Given the description of an element on the screen output the (x, y) to click on. 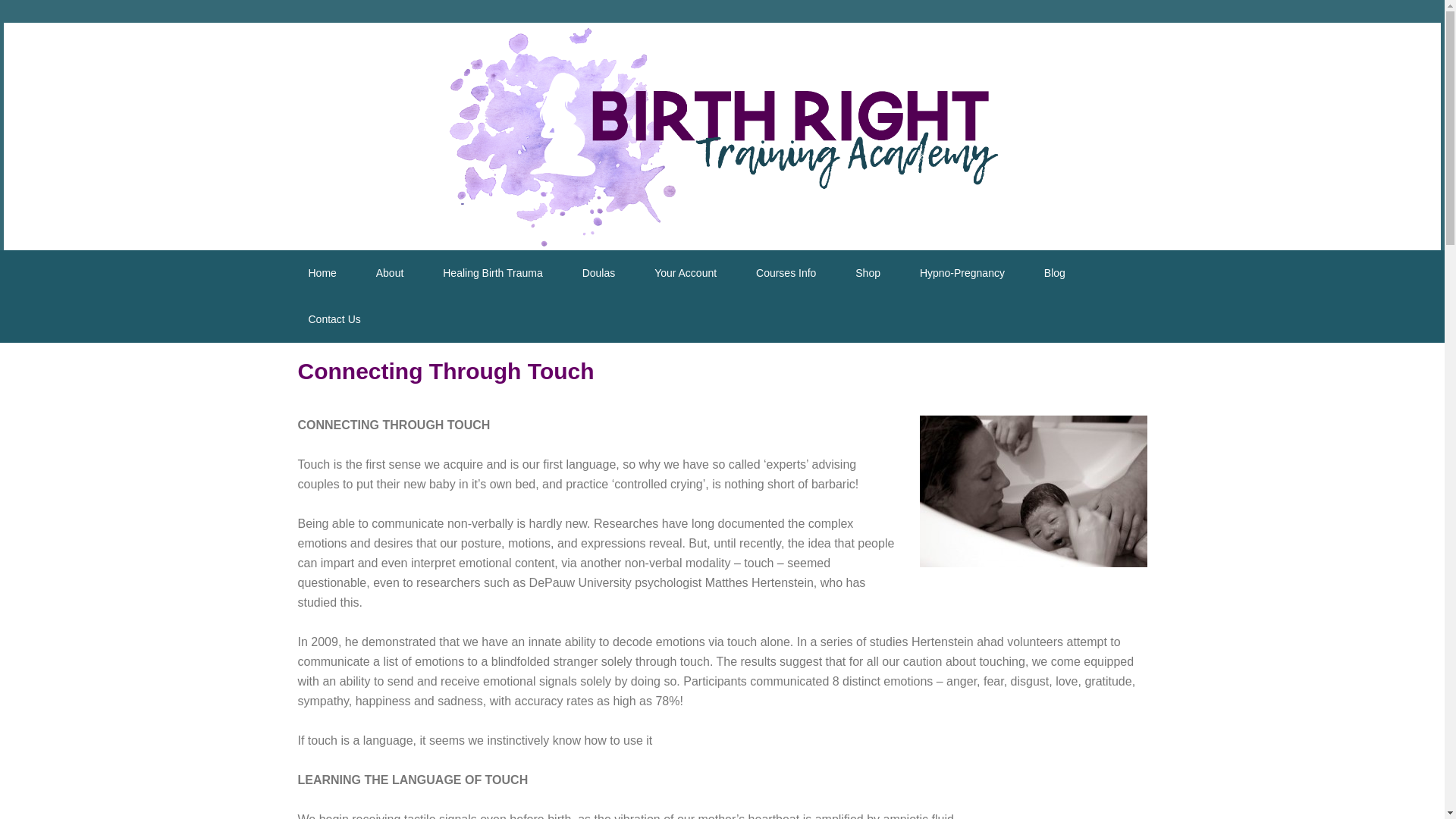
Healing Birth Trauma (492, 273)
Courses Info (786, 273)
Shop (867, 273)
Your Account (685, 273)
Doulas (598, 273)
About (390, 273)
Your Account (685, 273)
Contact Us (333, 319)
Home (321, 273)
Hypno-Pregnancy (962, 273)
Home (321, 273)
About (390, 273)
Courses Info (786, 273)
Doulas (598, 273)
Healing Birth Trauma (492, 273)
